Given the description of an element on the screen output the (x, y) to click on. 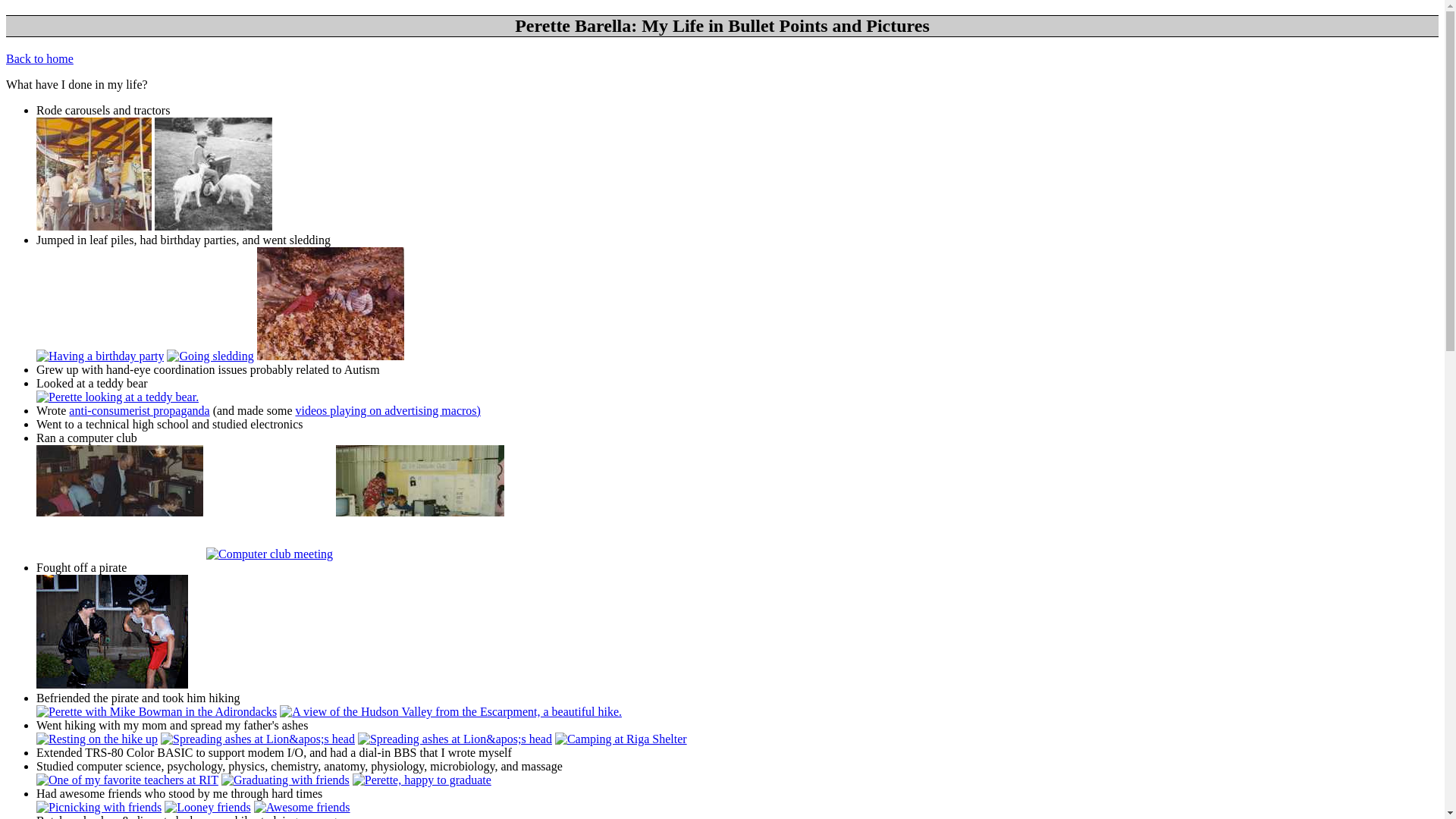
anti-consumerist propaganda (138, 410)
Back to home (39, 58)
